Given the description of an element on the screen output the (x, y) to click on. 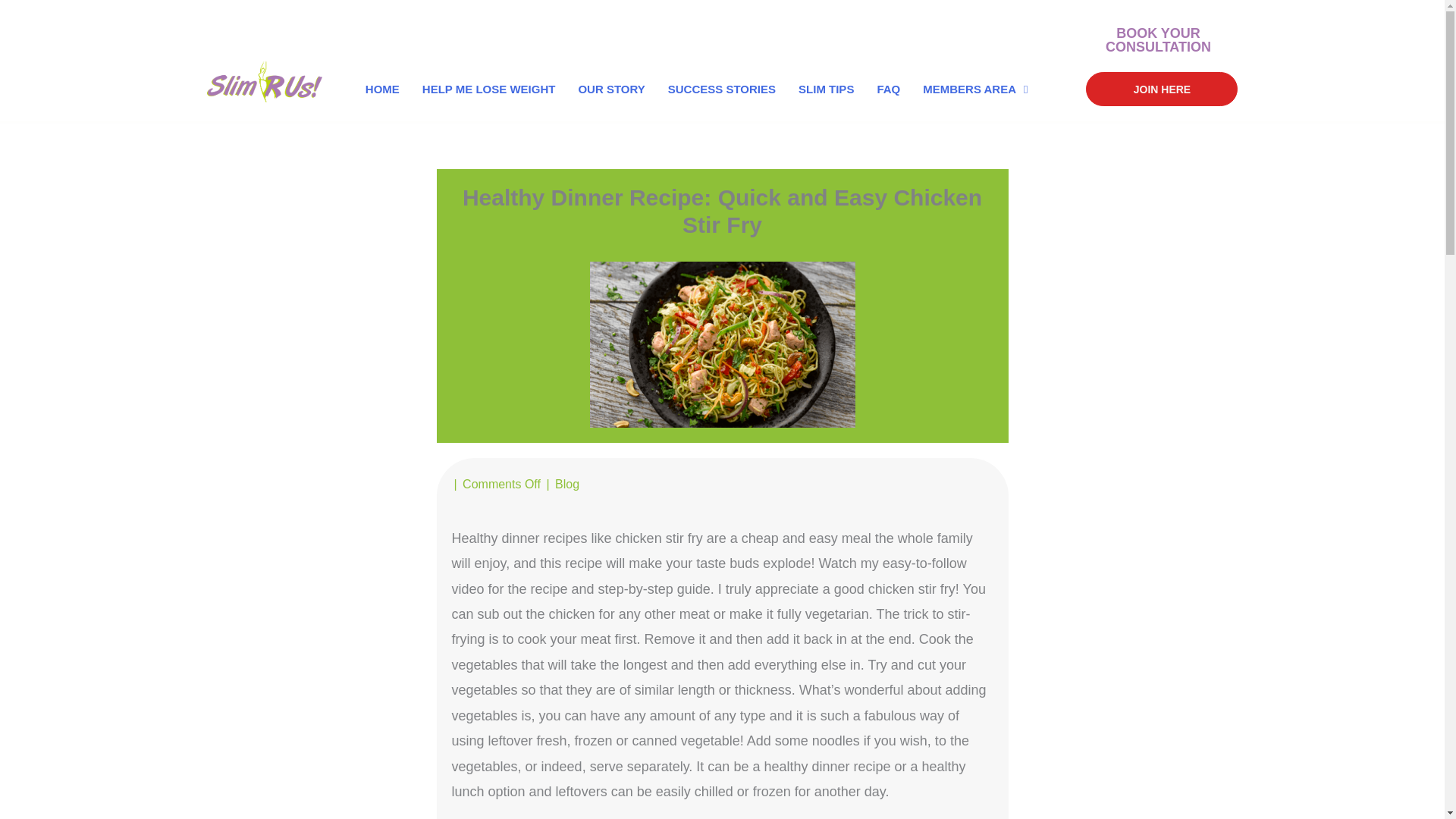
BOOK YOUR CONSULTATION (1157, 39)
Click Here (1157, 39)
FAQ (888, 89)
MEMBERS AREA (975, 89)
OUR STORY (611, 89)
HELP ME LOSE WEIGHT (488, 89)
JOIN HERE (1161, 89)
SLIM TIPS (825, 89)
SUCCESS STORIES (722, 89)
HOME (382, 89)
Click Here (1161, 89)
